Given the description of an element on the screen output the (x, y) to click on. 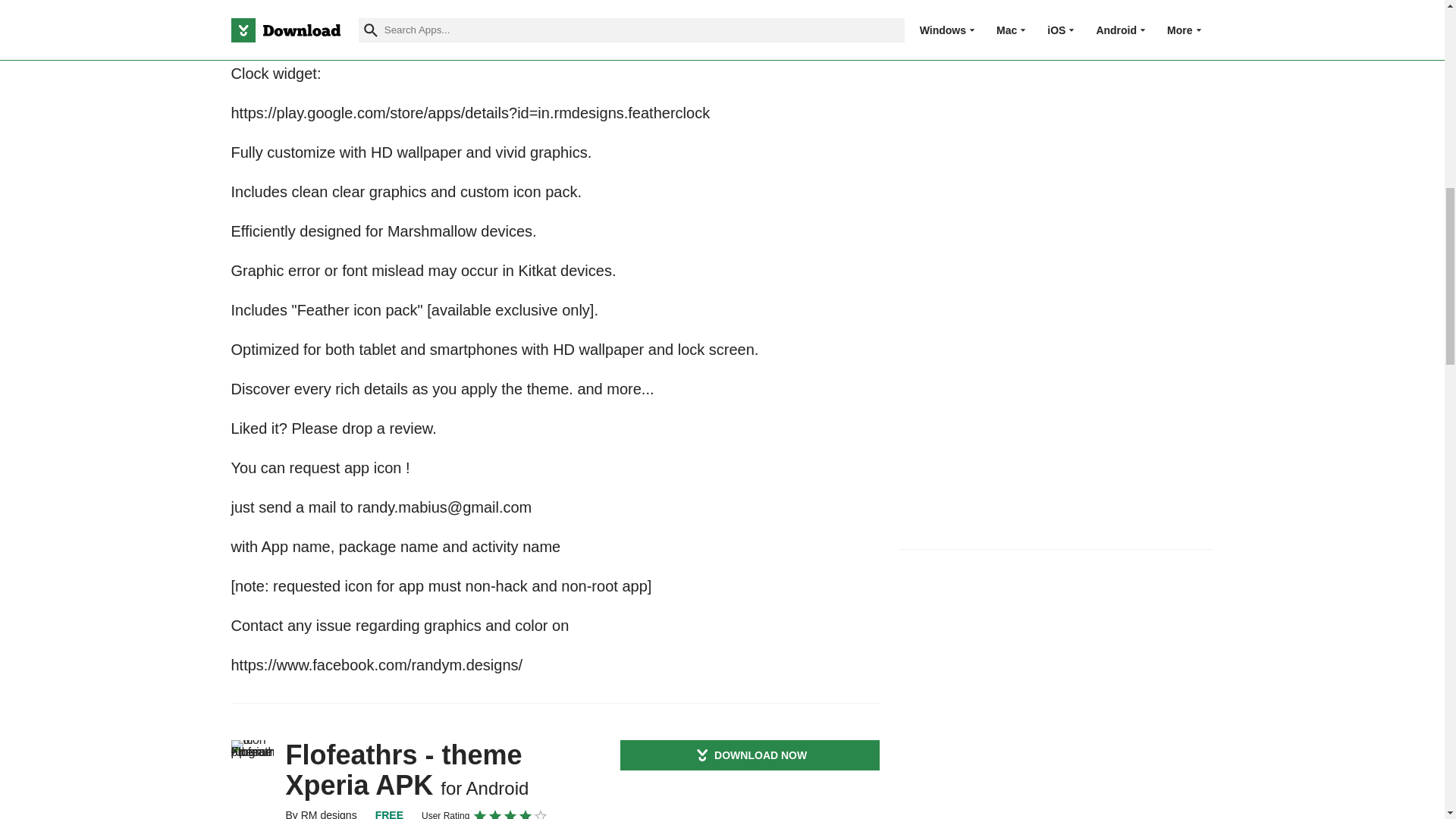
Flofeathrs - theme Xperia APK for Android (251, 761)
